Given the description of an element on the screen output the (x, y) to click on. 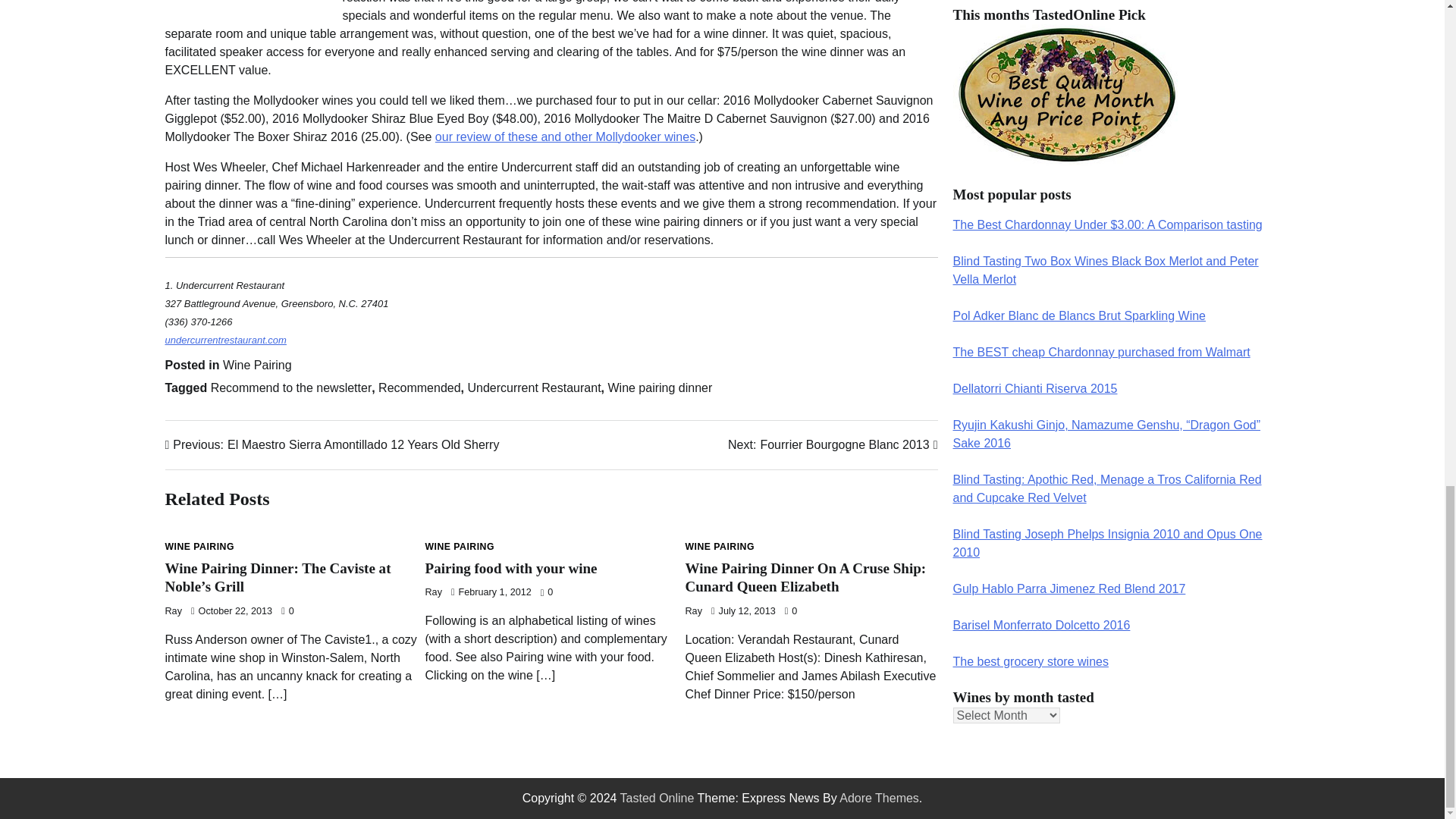
WINE PAIRING (459, 546)
Ray (433, 592)
our review of these and other Mollydooker wines (565, 136)
undercurrentrestaurant.com (225, 339)
Pairing food with your wine (510, 568)
Wine pairing dinner (659, 387)
Wine Pairing (257, 364)
Ray (332, 444)
Recommended (173, 611)
WINE PAIRING (419, 387)
Recommend to the newsletter (832, 444)
Undercurrent Restaurant (199, 546)
